Given the description of an element on the screen output the (x, y) to click on. 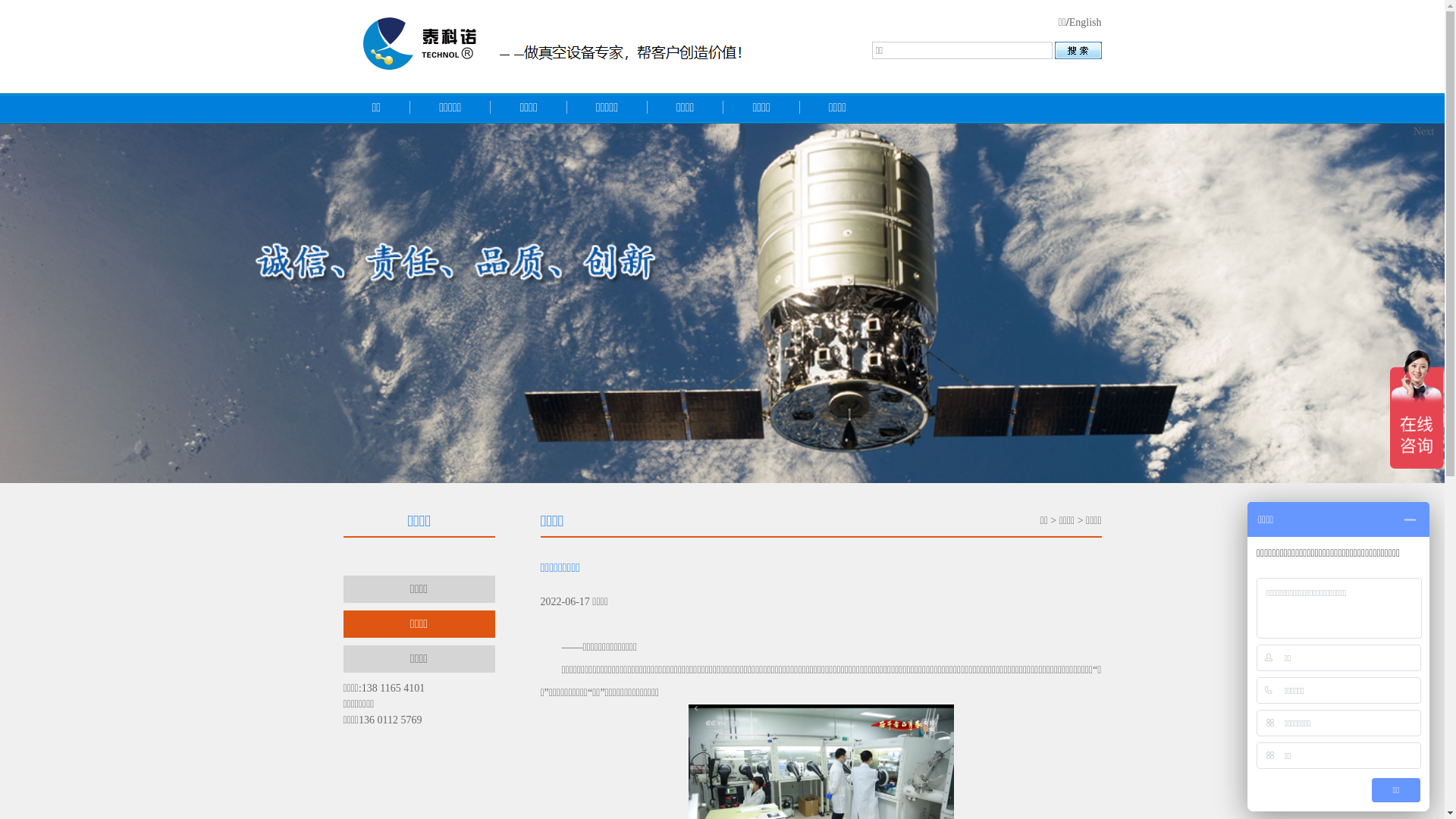
Next Element type: text (1428, 303)
Prev Element type: text (15, 303)
English Element type: text (1085, 22)
